Given the description of an element on the screen output the (x, y) to click on. 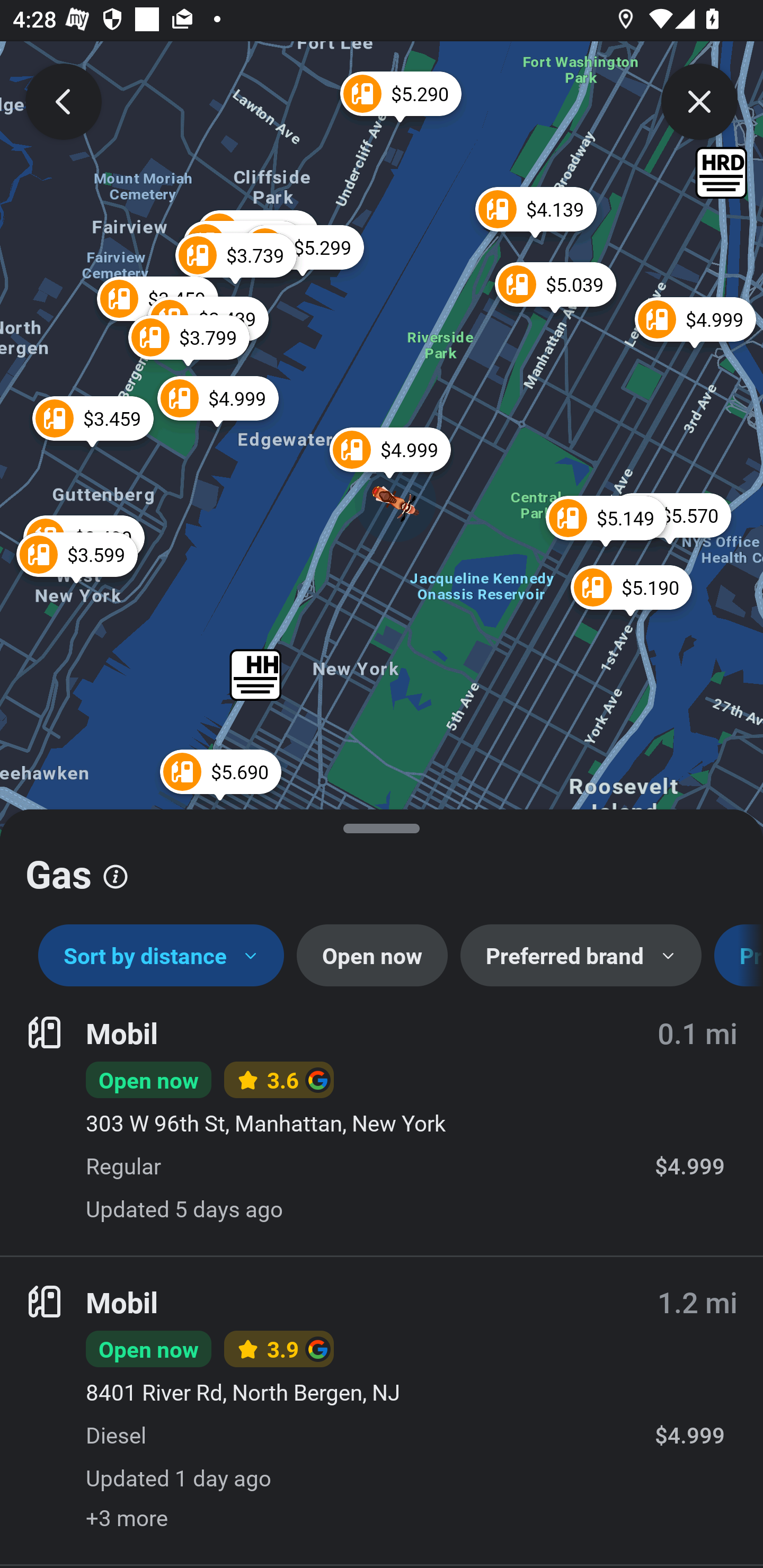
Gas (381, 867)
Sort by distance (160, 955)
Open now (371, 955)
Preferred brand (580, 955)
